Given the description of an element on the screen output the (x, y) to click on. 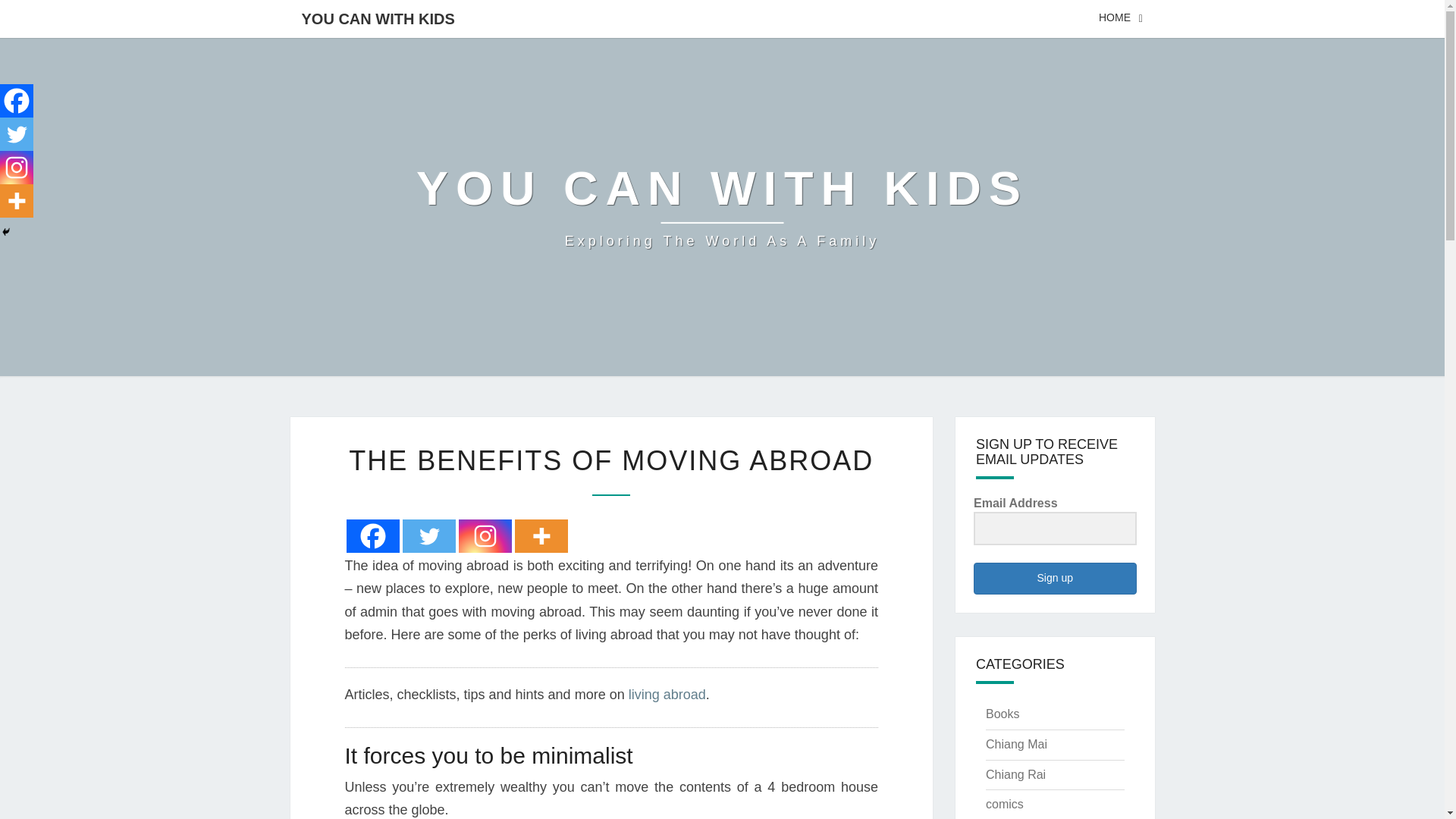
You Can With Kids (721, 206)
Chiang Mai (1015, 744)
More (540, 535)
Instagram (721, 206)
Facebook (484, 535)
Hide (372, 535)
Twitter (5, 232)
More (427, 535)
living abroad (16, 200)
